Given the description of an element on the screen output the (x, y) to click on. 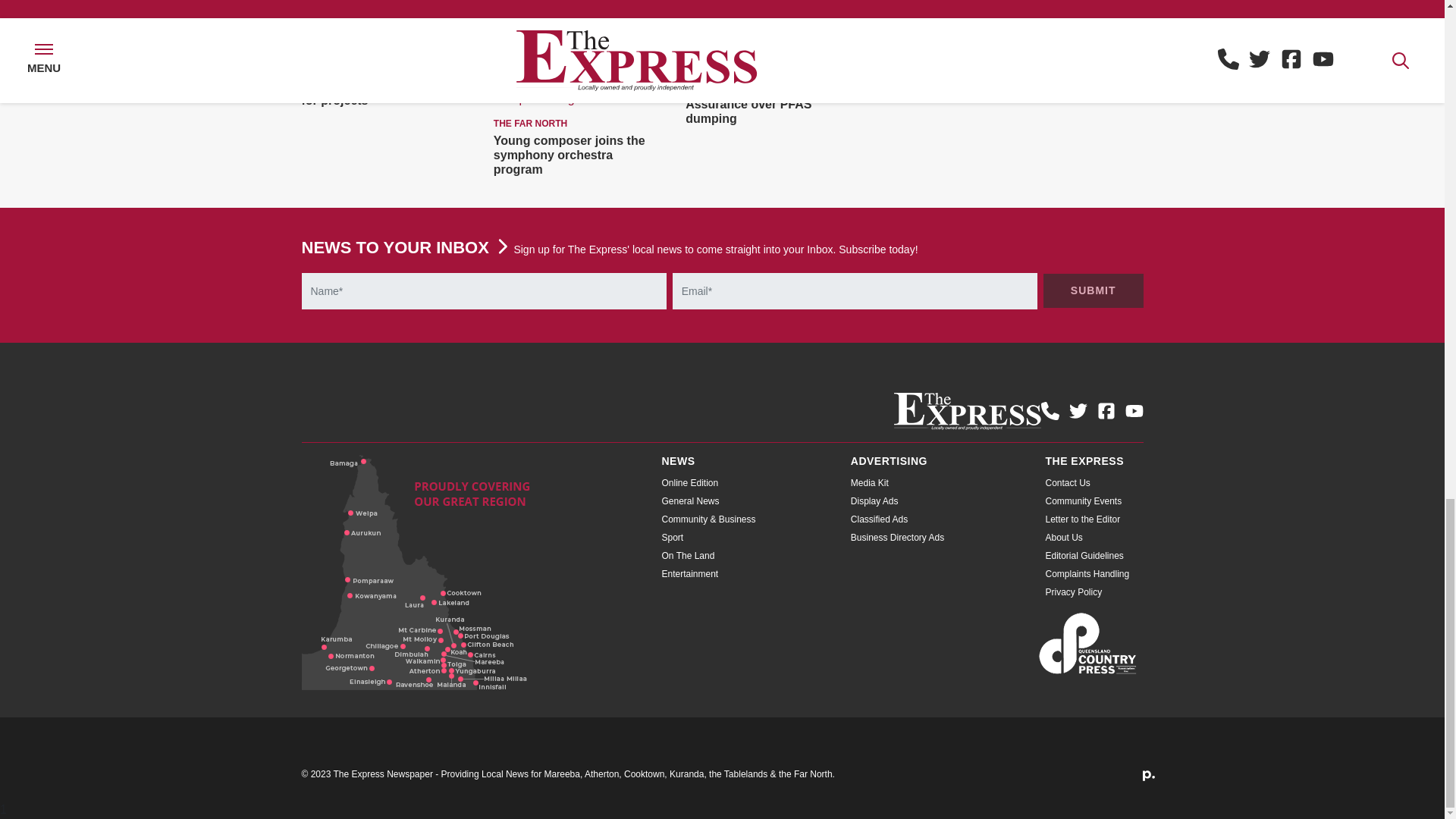
Assurance over PFAS dumping (747, 111)
Submit (1092, 290)
Millions handed to council for projects (377, 93)
Young composer joins the symphony orchestra program (569, 155)
